Given the description of an element on the screen output the (x, y) to click on. 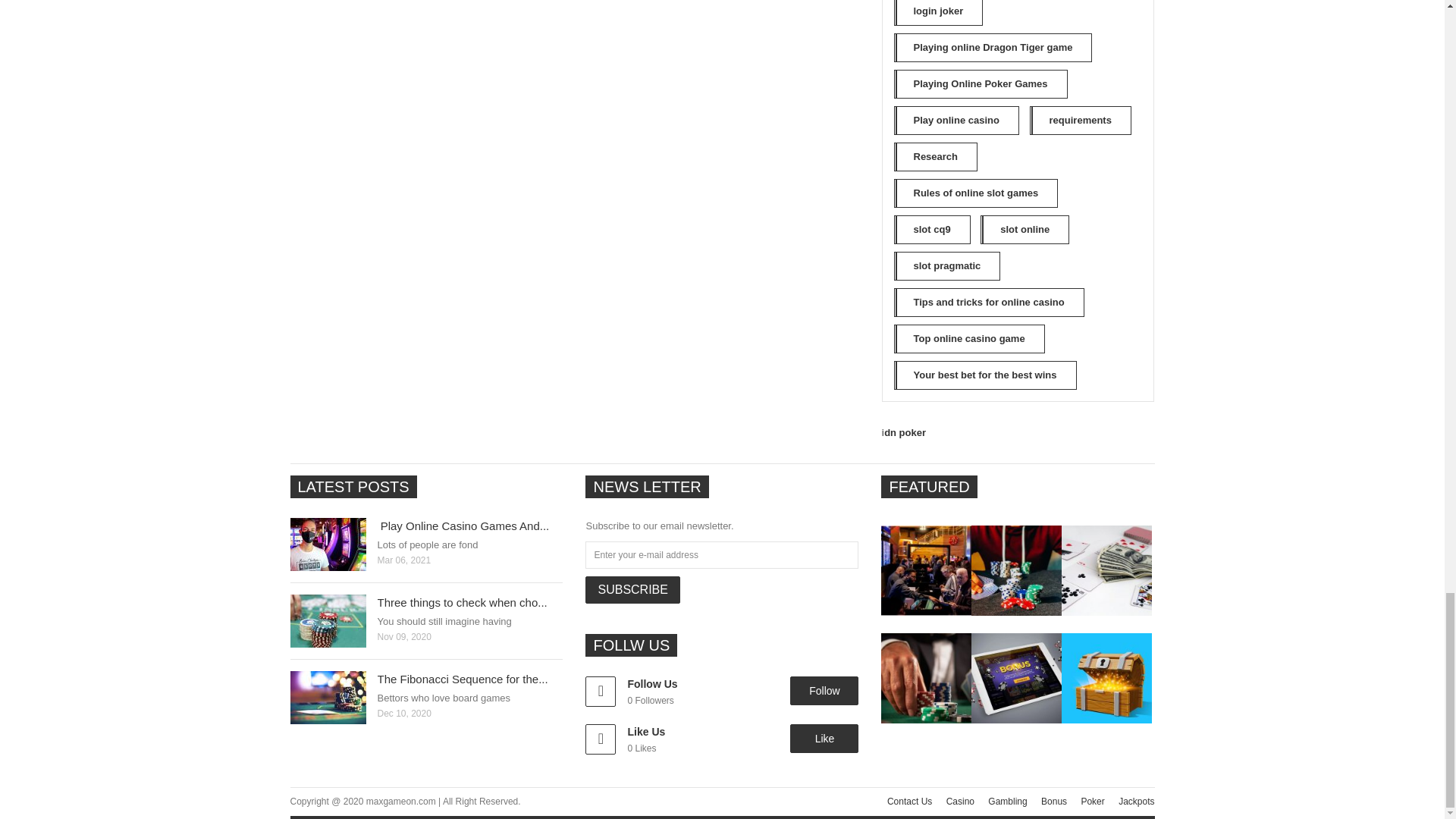
Enter your e-mail address (722, 554)
Subscribe (632, 589)
